Given the description of an element on the screen output the (x, y) to click on. 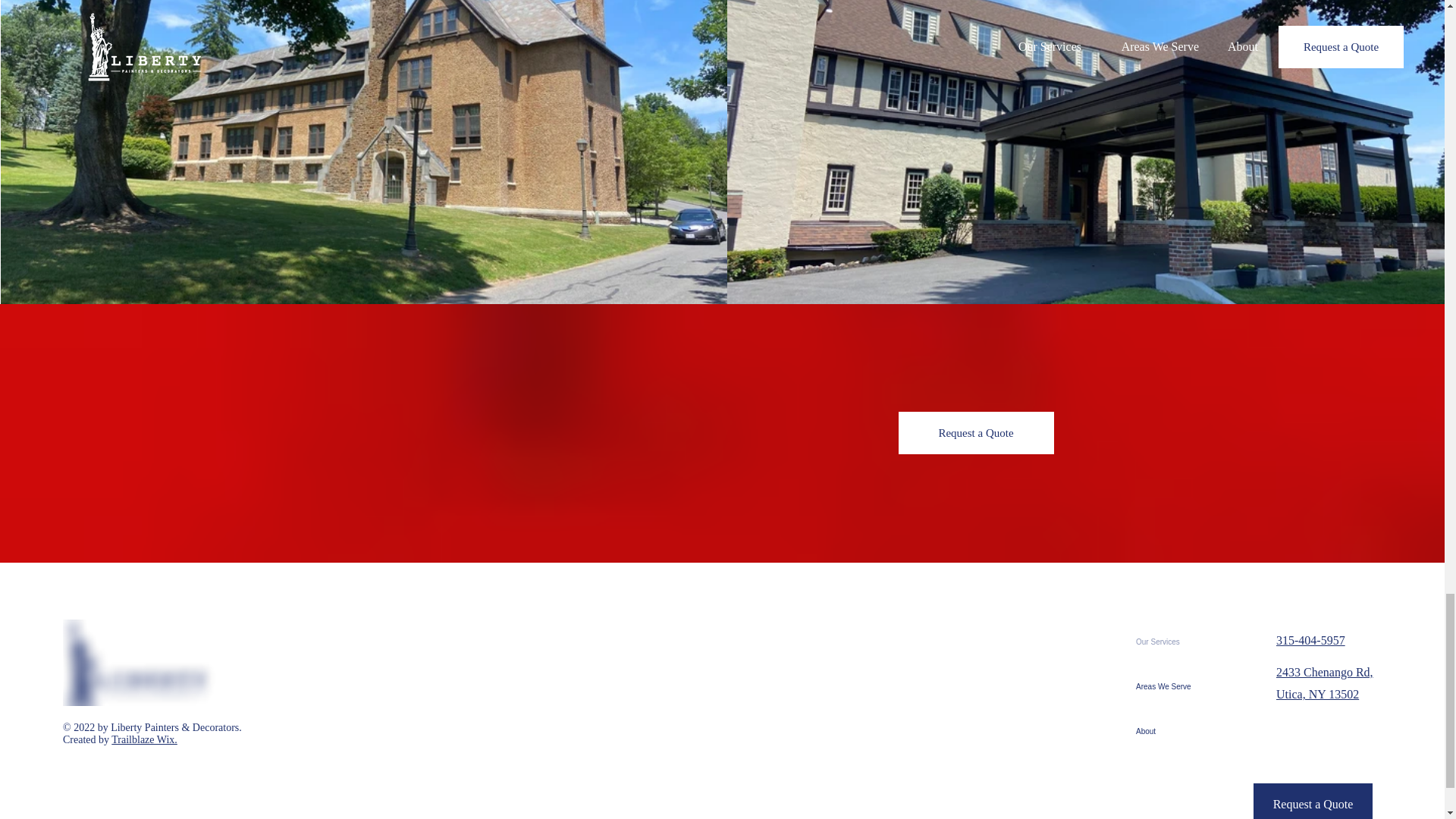
2433 Chenango Rd, Utica, NY 13502 (1324, 683)
Request a Quote (975, 432)
Request a Quote (1313, 800)
Areas We Serve (1163, 686)
About (1163, 731)
Google Maps (793, 721)
315-404-5957 (1310, 640)
Trailblaze Wix. (144, 739)
